Given the description of an element on the screen output the (x, y) to click on. 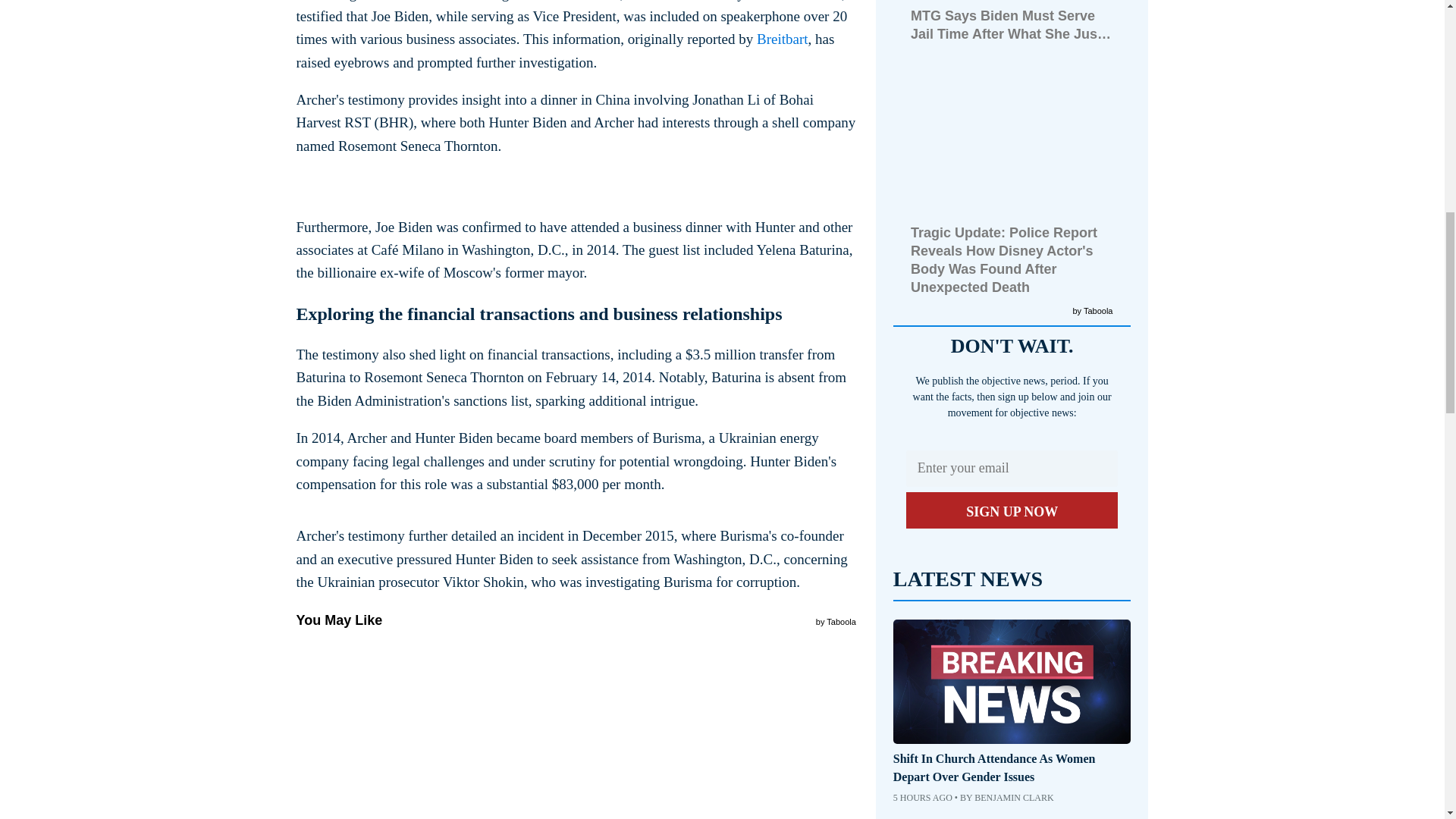
SIGN UP NOW (1011, 510)
by Taboola (835, 620)
Breitbart (782, 38)
